Given the description of an element on the screen output the (x, y) to click on. 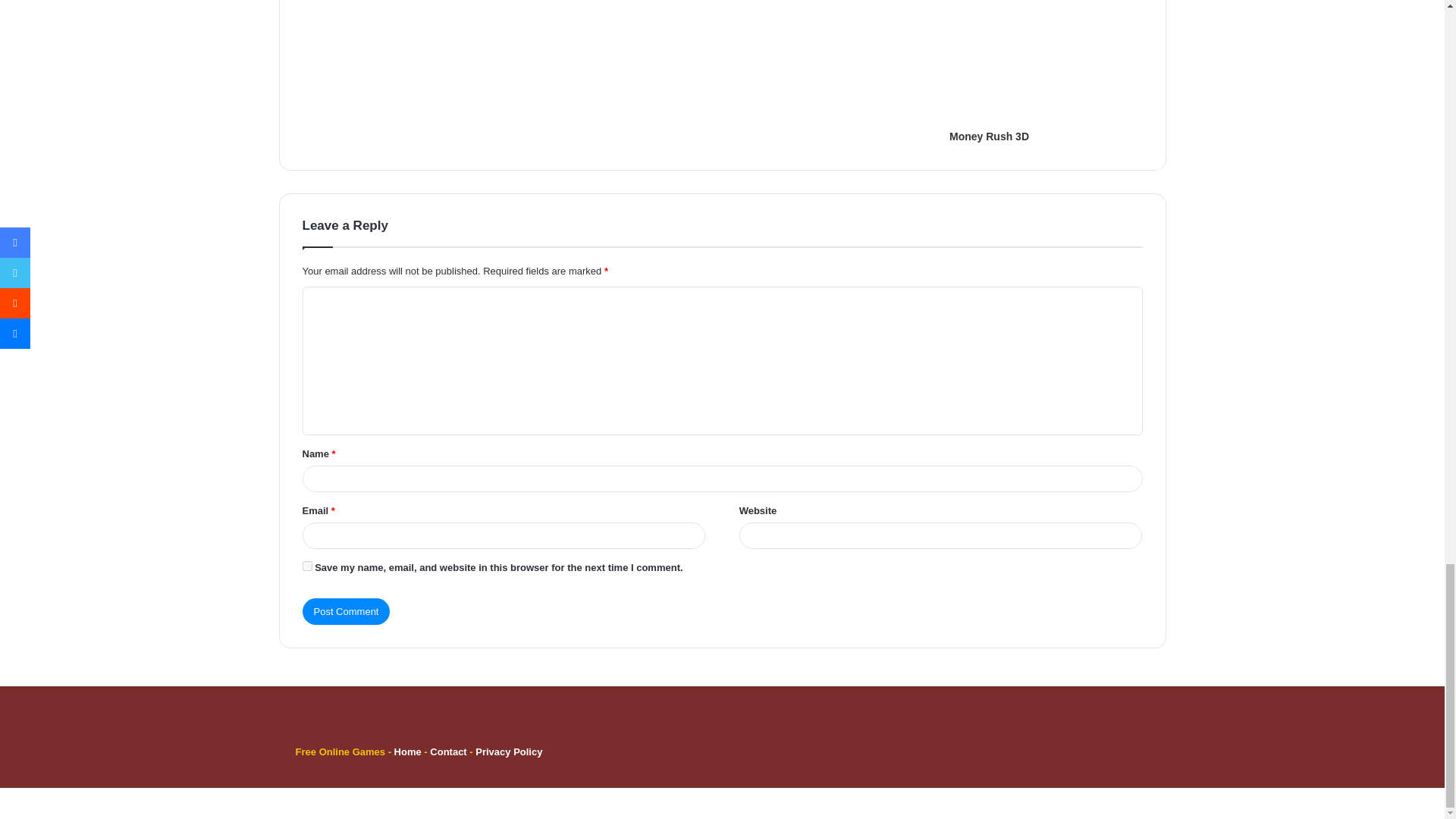
Post Comment (345, 611)
yes (306, 565)
